Given the description of an element on the screen output the (x, y) to click on. 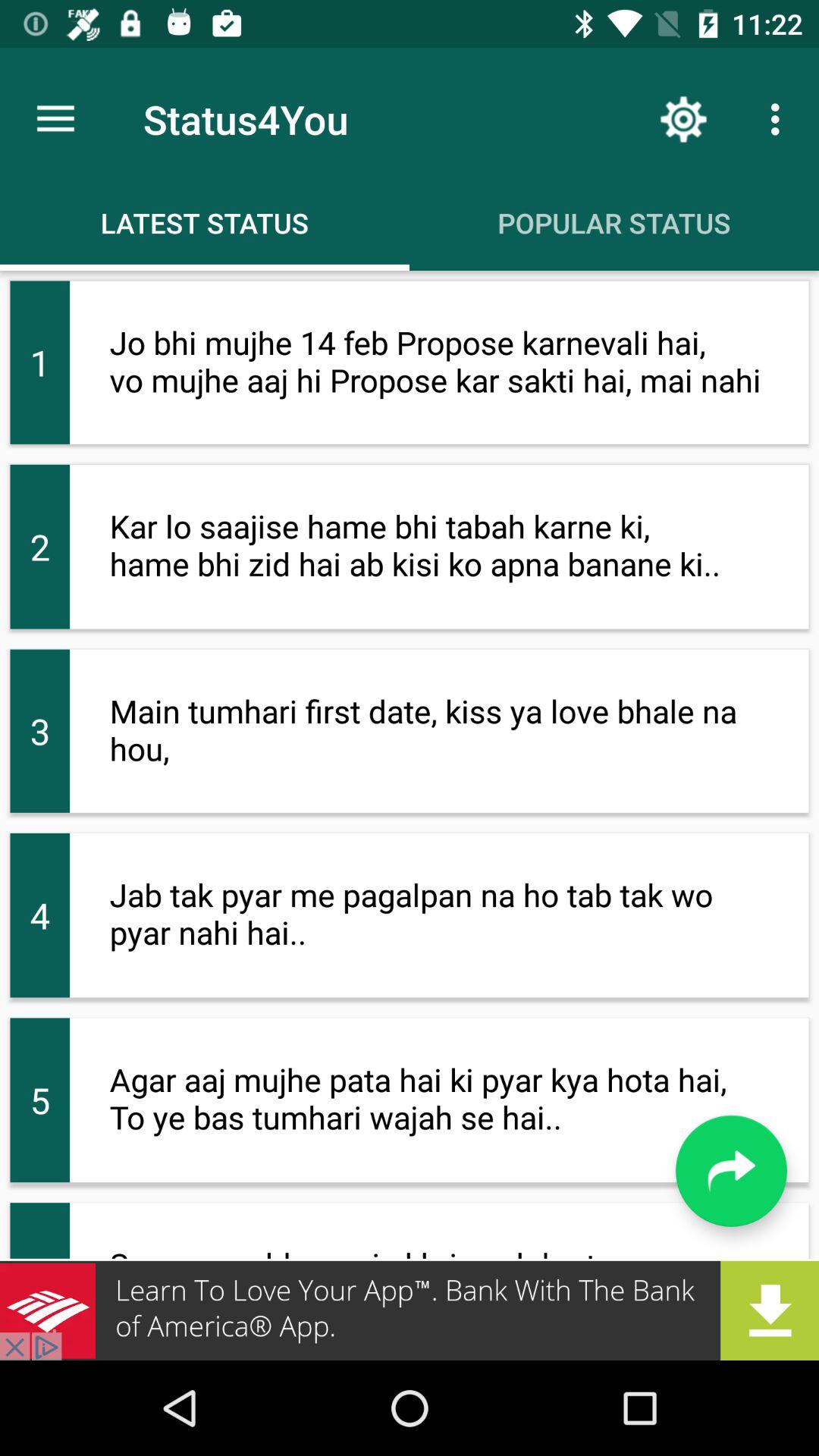
sahar the app (409, 1310)
